Given the description of an element on the screen output the (x, y) to click on. 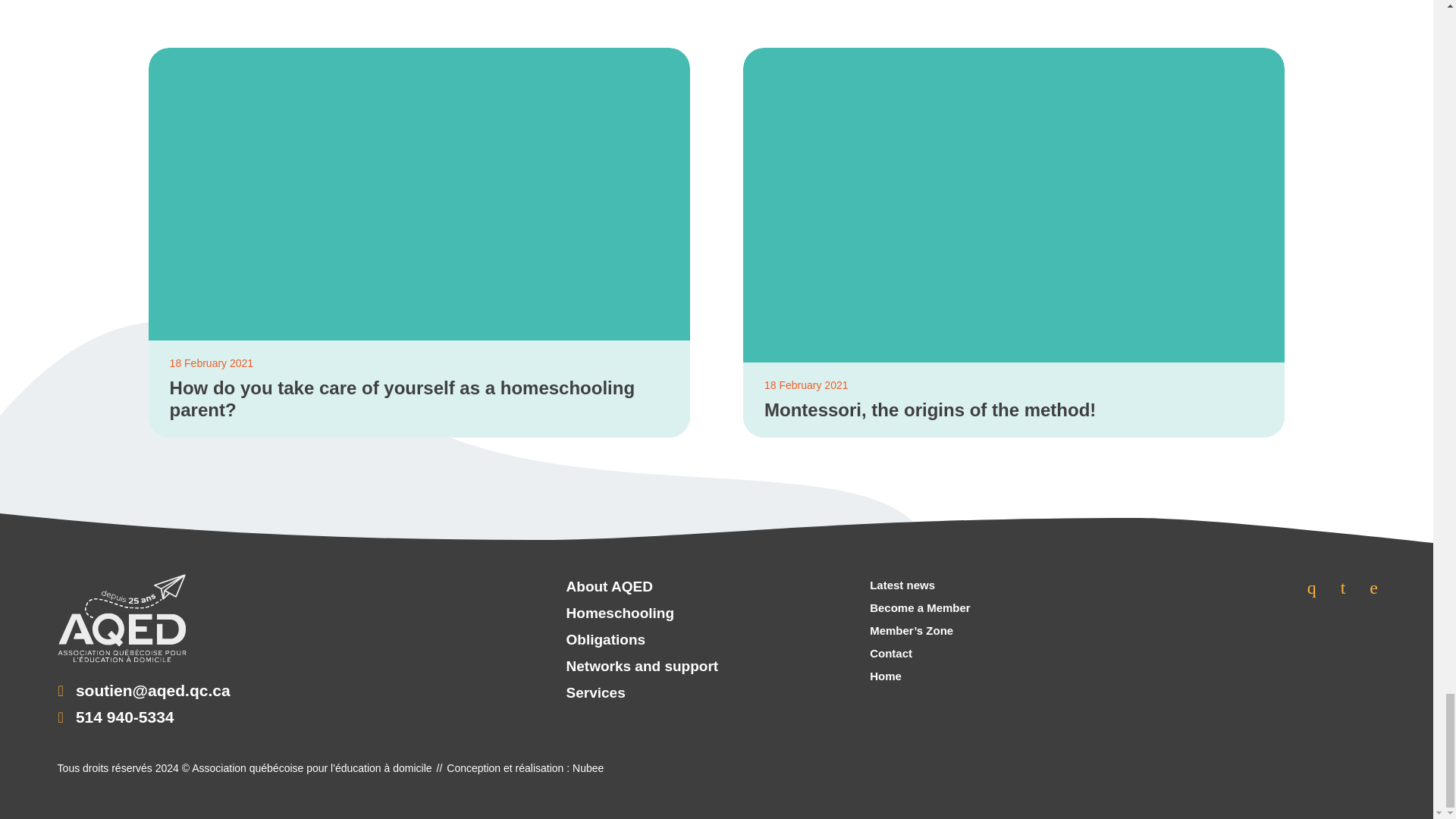
Instagram (1342, 587)
Latest news (919, 585)
Obligations (642, 640)
About AQED (642, 587)
How do you take care of yourself as a homeschooling parent? (419, 399)
Homeschooling (642, 613)
Become a Member (919, 608)
Services (642, 693)
Networks and support (642, 666)
514 940-5334 (124, 716)
Montessori, the origins of the method! (1013, 410)
